Given the description of an element on the screen output the (x, y) to click on. 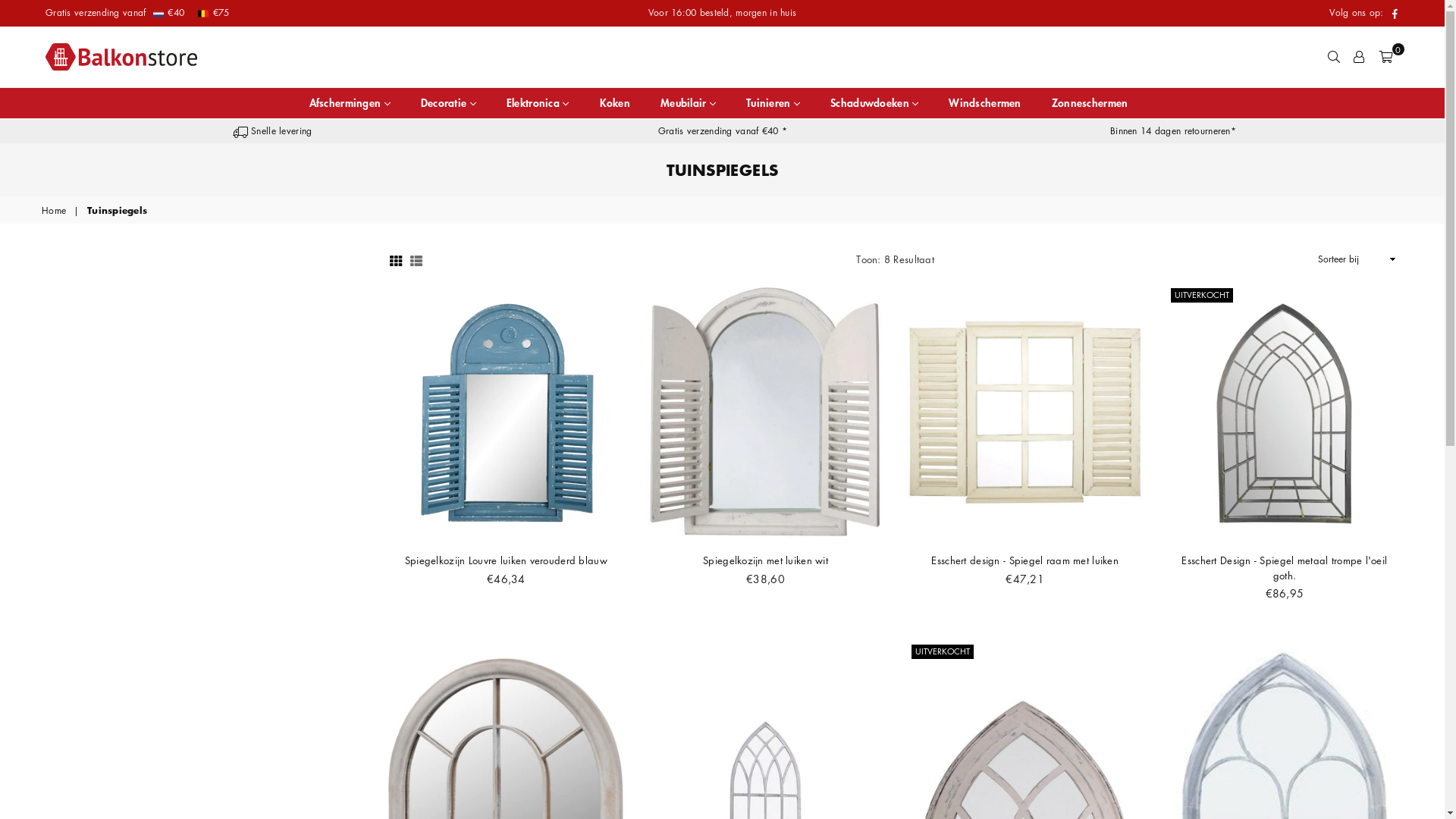
Esschert Design - Spiegel metaal trompe l'oeil goth. Element type: text (1283, 567)
Decoratie Element type: text (448, 102)
Home Element type: text (54, 210)
Zoeken Element type: hover (1333, 56)
List View Element type: hover (415, 258)
Instellingen Element type: hover (1358, 56)
Windschermen Element type: text (984, 102)
Balkonstore Element type: text (132, 56)
Grid View Element type: hover (395, 258)
Meubilair Element type: text (688, 102)
Esschert design - Spiegel raam met luiken Element type: text (1024, 559)
Binnen 14 dagen retourneren* Element type: text (1173, 130)
Snelle levering Element type: text (272, 130)
Zonneschermen Element type: text (1089, 102)
Afschermingen Element type: text (349, 102)
Spiegelkozijn Louvre luiken verouderd blauw Element type: text (505, 559)
Tuinieren Element type: text (772, 102)
Facebook Element type: text (1394, 13)
Elektronica Element type: text (537, 102)
Koken Element type: text (614, 102)
Spiegelkozijn met luiken wit Element type: text (765, 559)
Schaduwdoeken Element type: text (874, 102)
0 Element type: text (1385, 56)
